Given the description of an element on the screen output the (x, y) to click on. 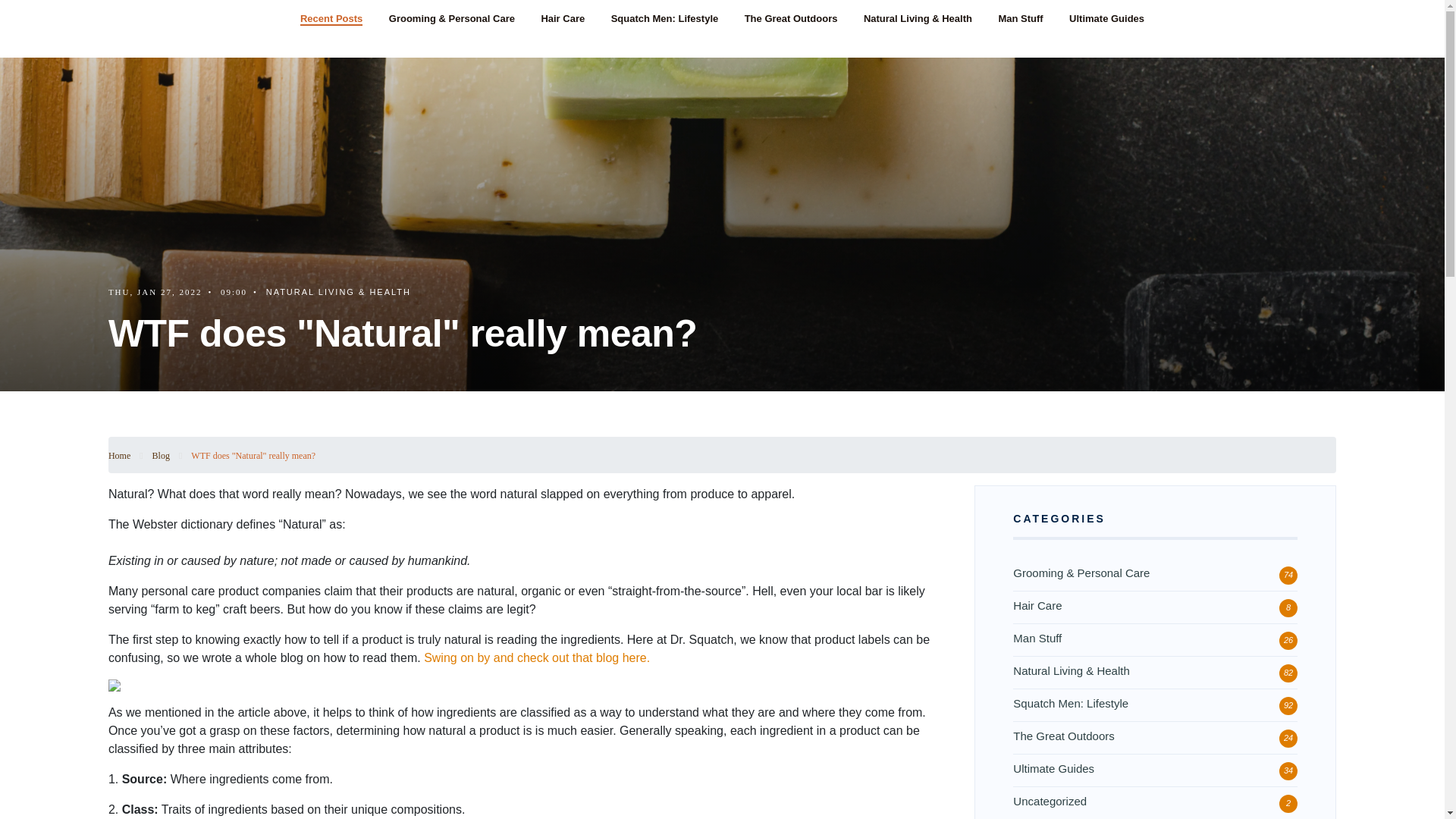
Show articles tagged Hair Care (1037, 604)
Man Stuff (1019, 19)
The Great Outdoors (791, 19)
Blog (161, 455)
Swing on by and check out that blog here.  (537, 657)
WTF does "Natural" really mean? (252, 455)
Ultimate Guides (1106, 19)
Home (119, 455)
Show articles tagged Uncategorized (1049, 800)
Hair Care (562, 19)
